Given the description of an element on the screen output the (x, y) to click on. 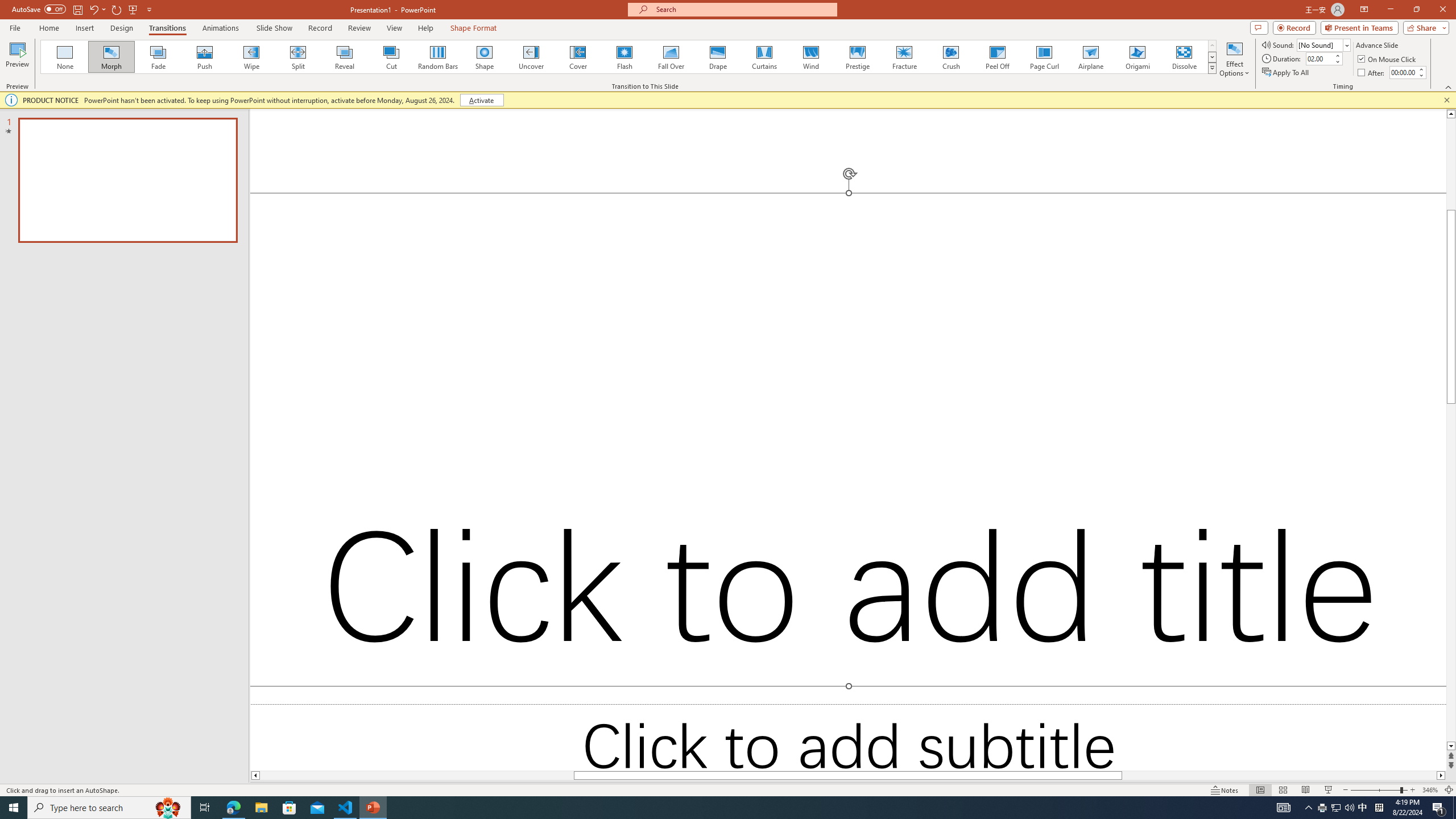
Fall Over (670, 56)
On Mouse Click (1387, 58)
AutomationID: AnimationTransitionGallery (628, 56)
